Given the description of an element on the screen output the (x, y) to click on. 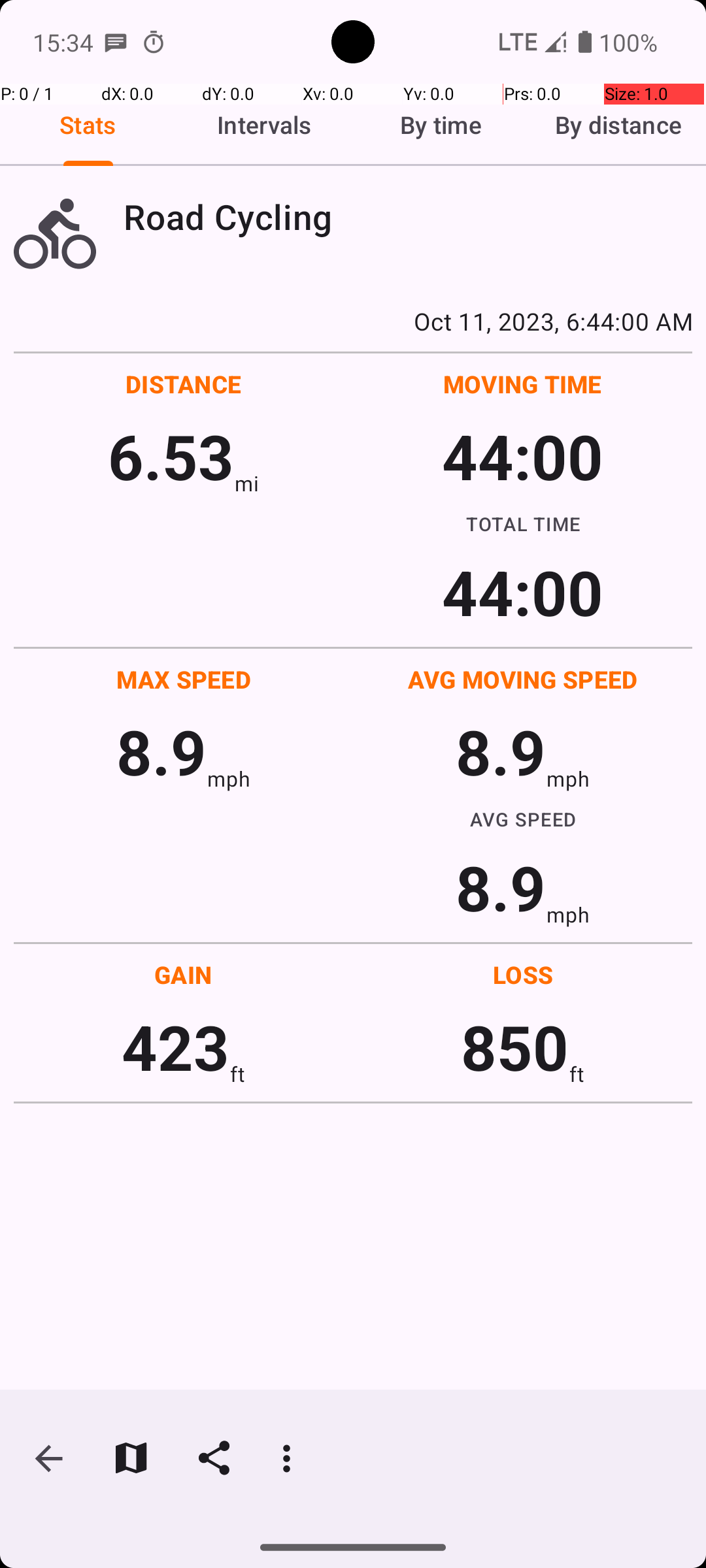
Road Cycling Element type: android.widget.TextView (407, 216)
Oct 11, 2023, 6:44:00 AM Element type: android.widget.TextView (352, 320)
6.53 Element type: android.widget.TextView (170, 455)
44:00 Element type: android.widget.TextView (522, 455)
8.9 Element type: android.widget.TextView (161, 750)
423 Element type: android.widget.TextView (175, 1045)
850 Element type: android.widget.TextView (514, 1045)
